Given the description of an element on the screen output the (x, y) to click on. 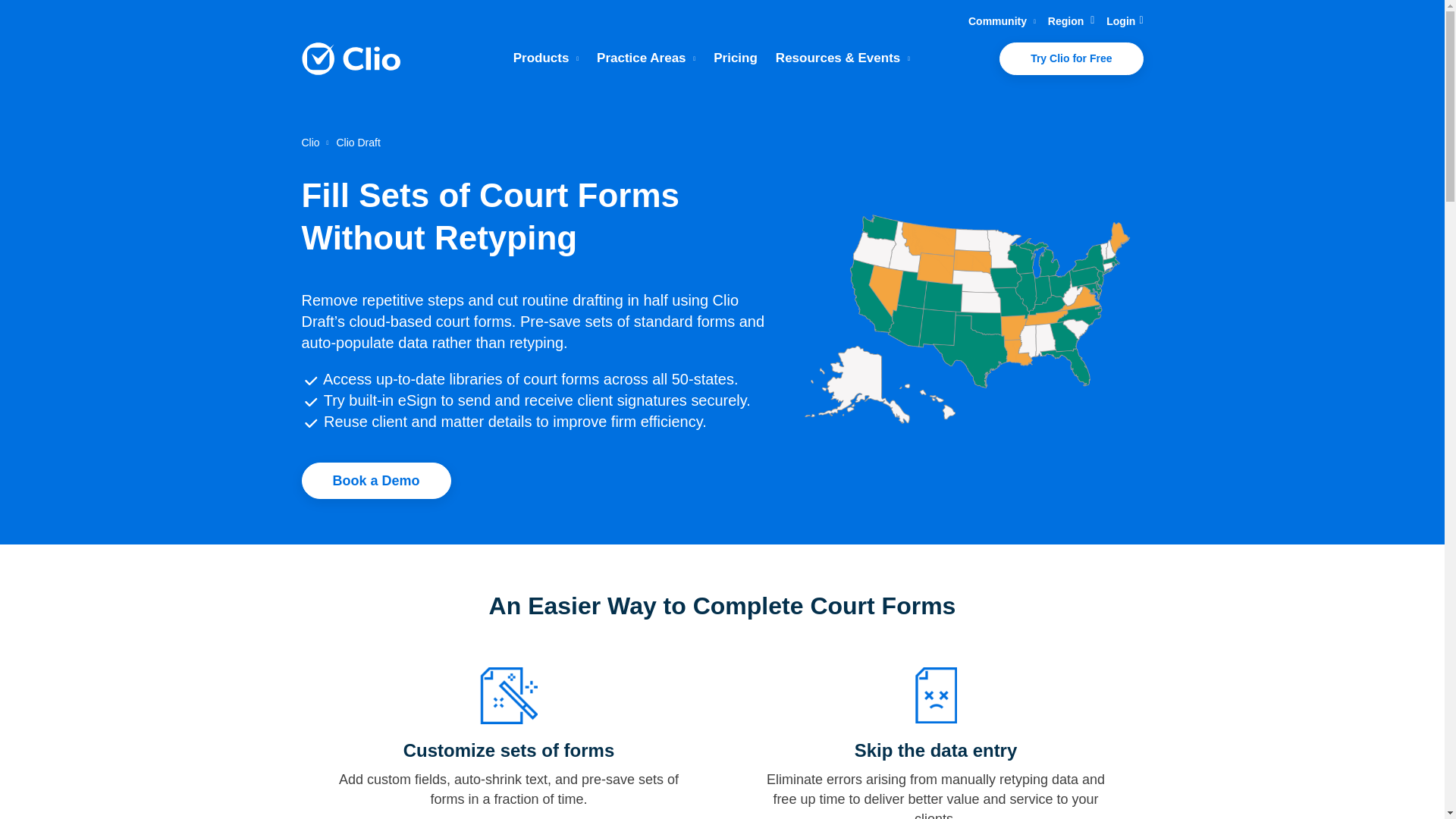
Products (545, 58)
Clio logo (350, 59)
Community (1001, 21)
Region (1071, 21)
Login (1124, 21)
